Given the description of an element on the screen output the (x, y) to click on. 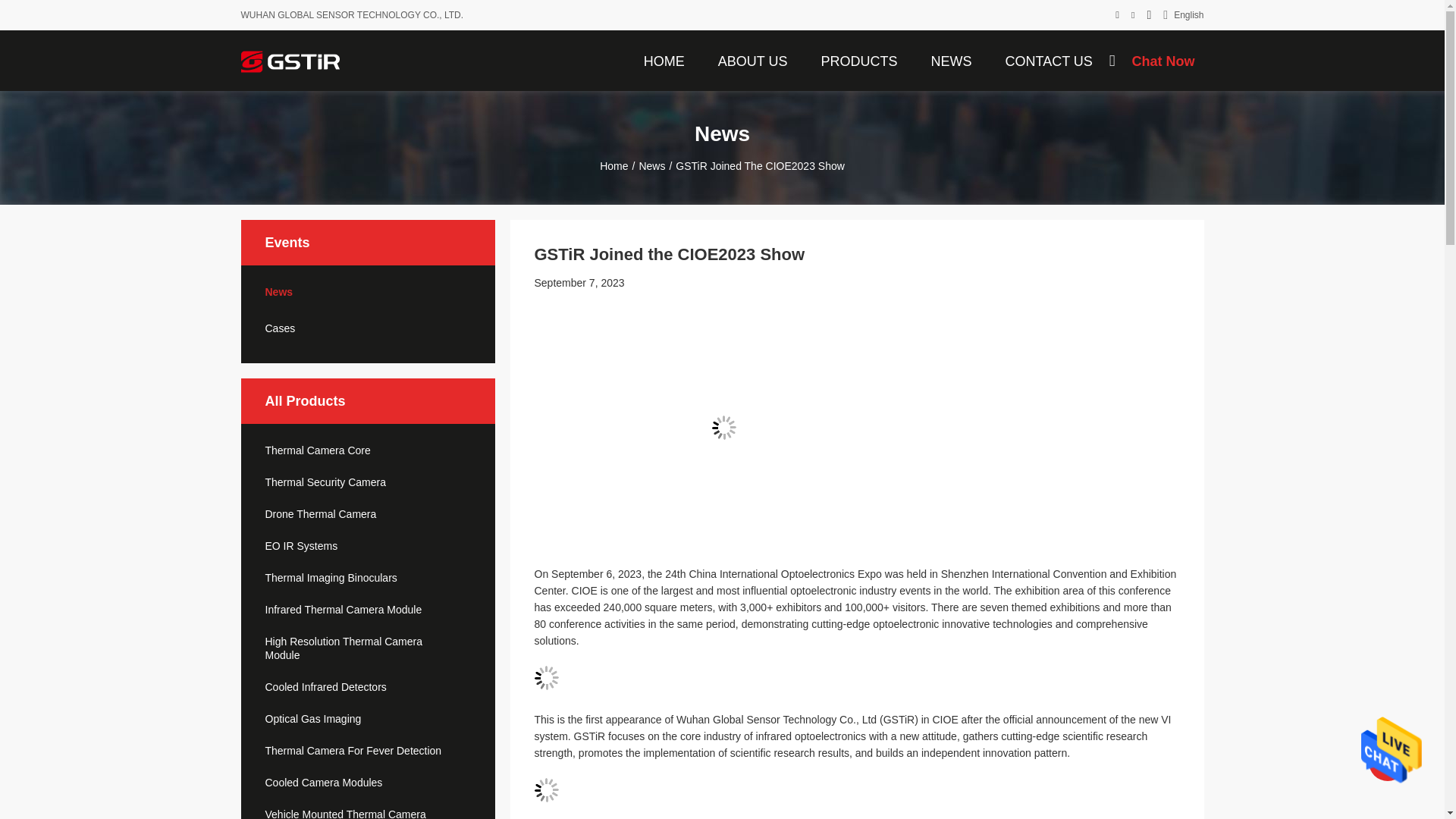
ABOUT US (752, 60)
HOME (664, 60)
PRODUCTS (857, 60)
